Given the description of an element on the screen output the (x, y) to click on. 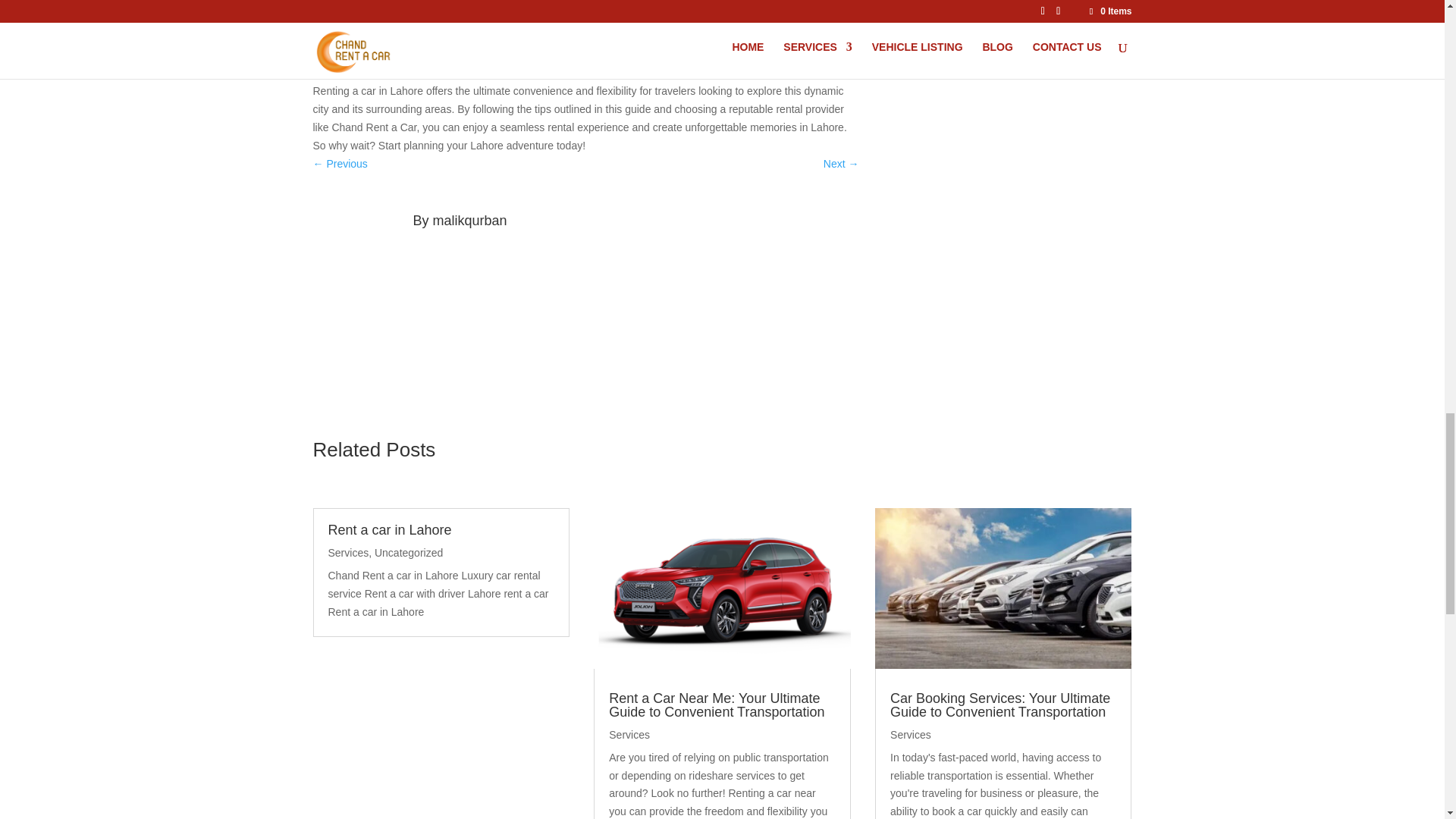
Services (910, 734)
Services (347, 552)
Uncategorized (408, 552)
Rent a car in Lahore (389, 529)
malikqurban (469, 220)
Services (628, 734)
